Given the description of an element on the screen output the (x, y) to click on. 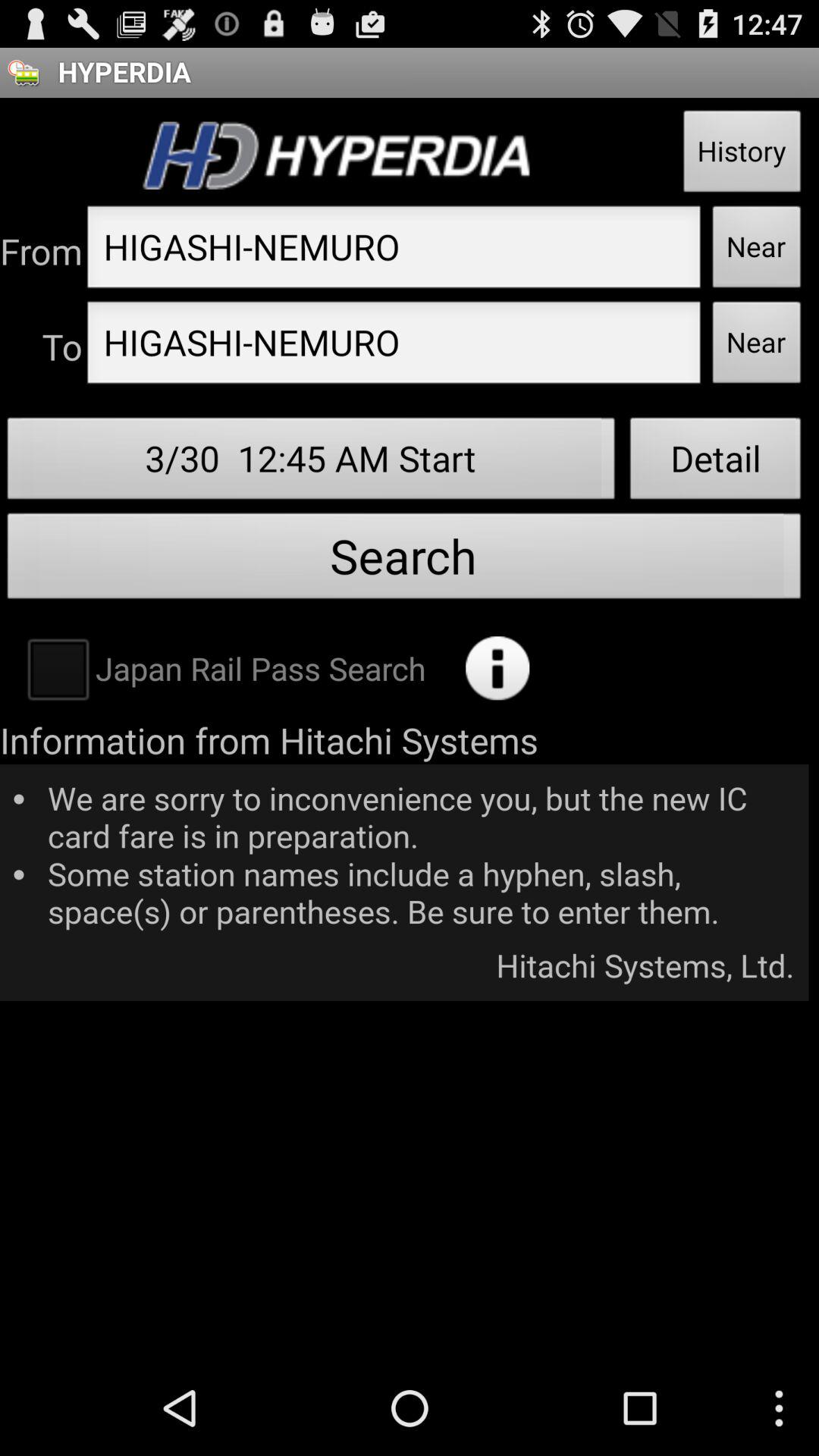
information (497, 668)
